Given the description of an element on the screen output the (x, y) to click on. 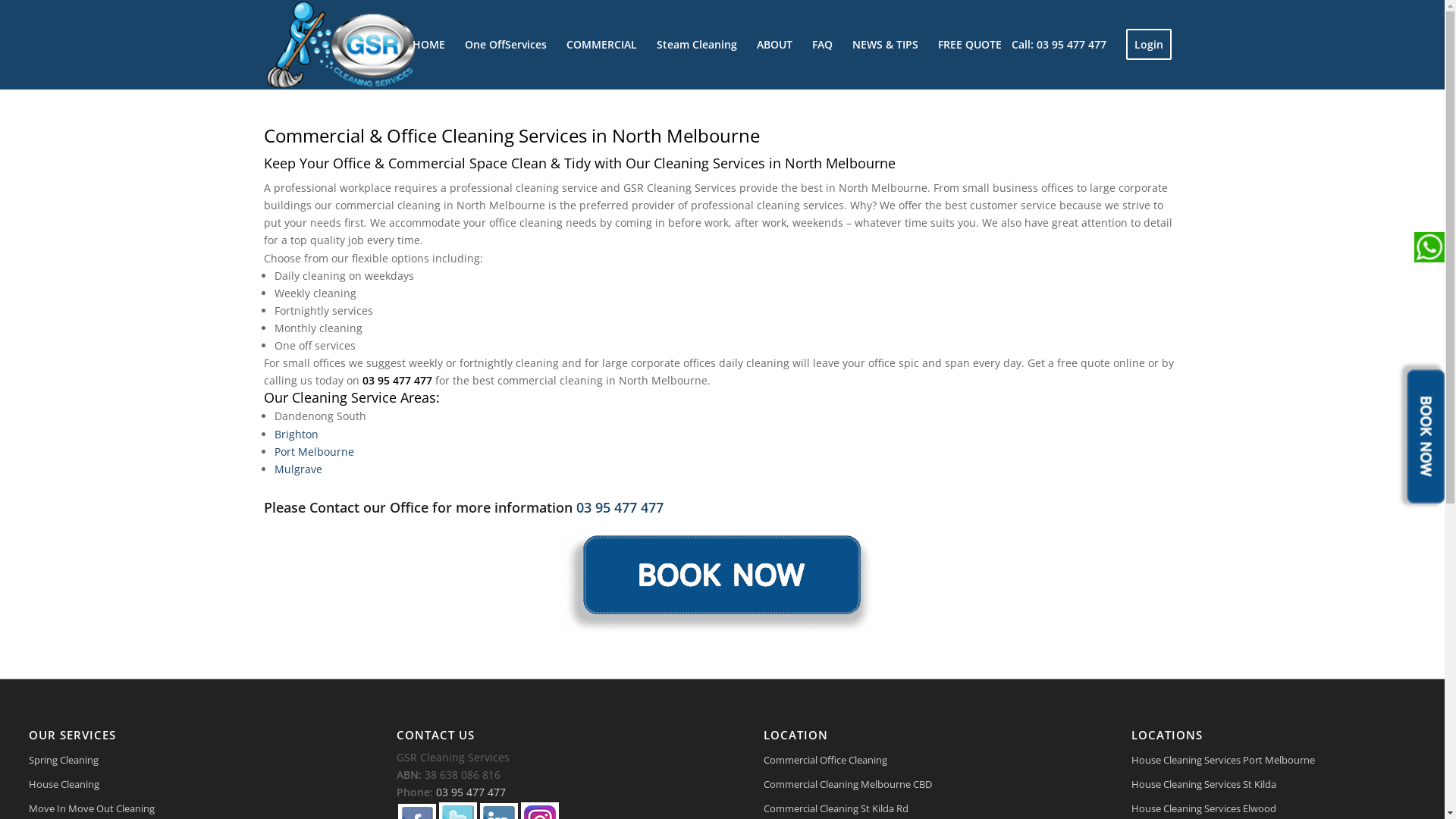
HOME Element type: text (427, 44)
Call: 03 95 477 477 Element type: text (1058, 44)
03 95 477 477 Element type: text (470, 791)
ABOUT Element type: text (773, 44)
House Cleaning Element type: text (170, 784)
03 95 477 477 Element type: text (619, 507)
House Cleaning Services Port Melbourne Element type: text (1273, 760)
Port Melbourne Element type: text (314, 451)
FAQ Element type: text (822, 44)
Steam Cleaning Element type: text (696, 44)
Commercial Cleaning Melbourne CBD Element type: text (905, 784)
Brighton Element type: text (296, 433)
Login Element type: text (1148, 44)
Commercial Office Cleaning Element type: text (905, 760)
COMMERCIAL Element type: text (601, 44)
One OffServices Element type: text (505, 44)
Mulgrave Element type: text (298, 468)
Spring Cleaning Element type: text (170, 760)
NEWS & TIPS Element type: text (884, 44)
House Cleaning Services St Kilda Element type: text (1273, 784)
FREE QUOTE Element type: text (964, 44)
